Given the description of an element on the screen output the (x, y) to click on. 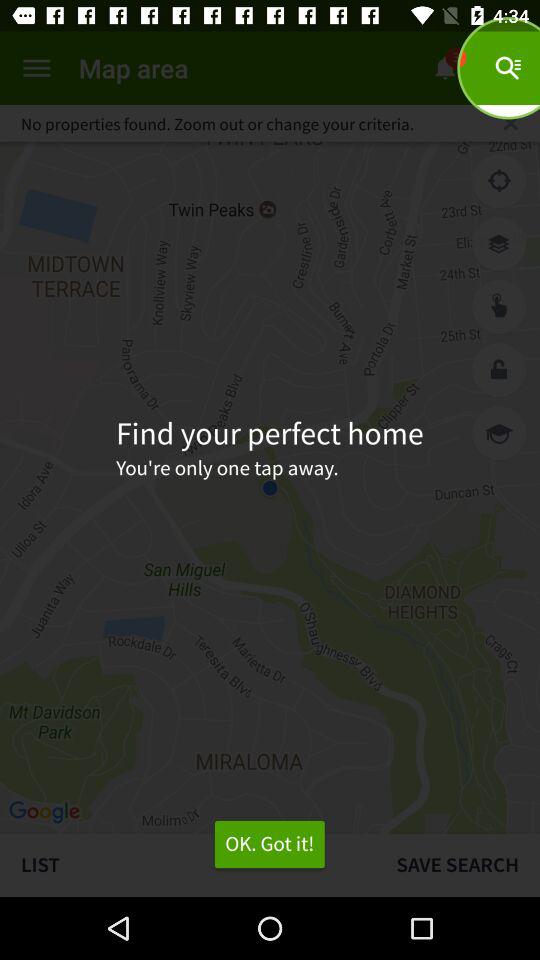
click item to the right of find your perfect (499, 432)
